Given the description of an element on the screen output the (x, y) to click on. 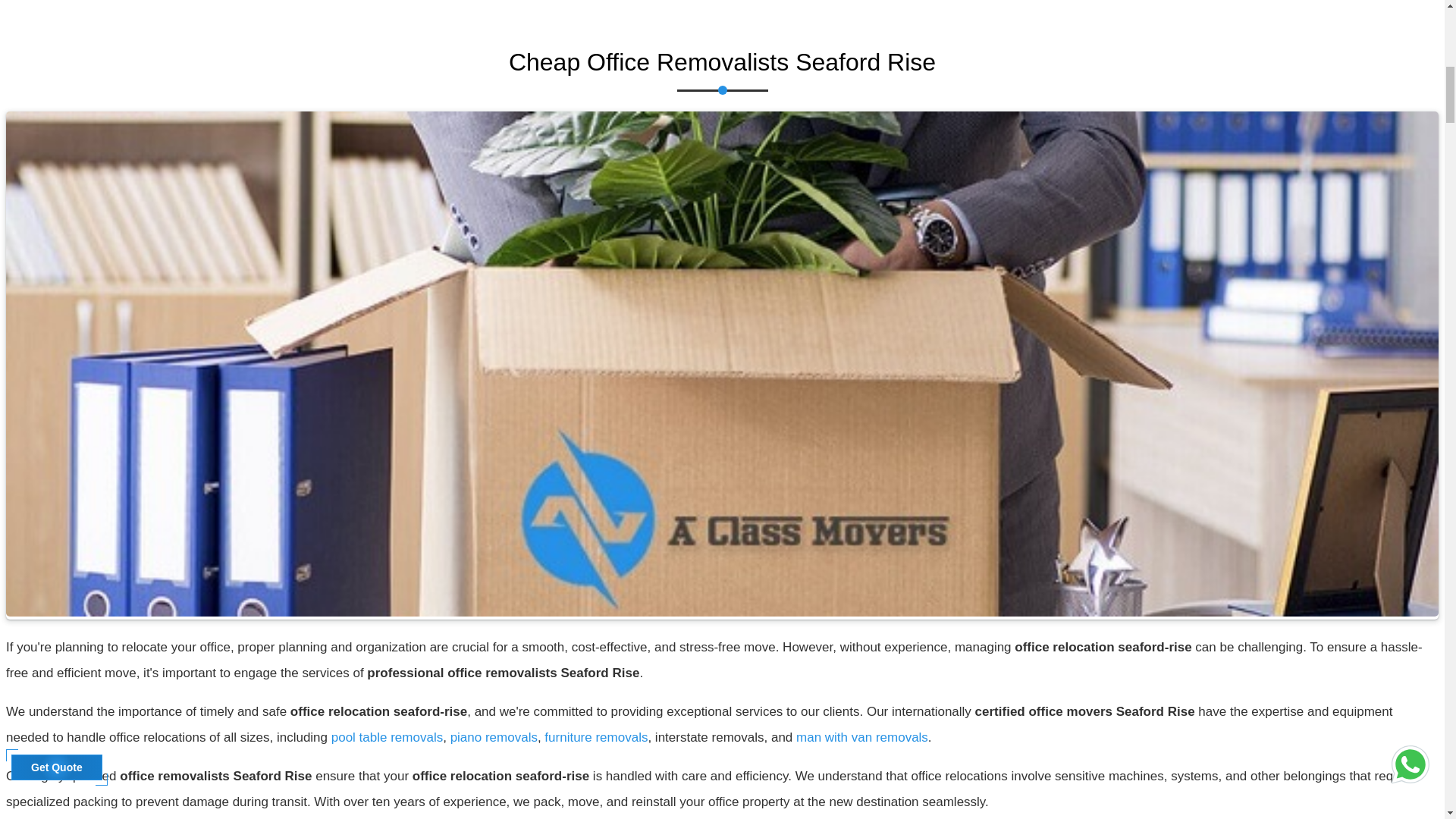
man with van removals (862, 737)
pool table removals (386, 737)
furniture removals (595, 737)
piano removals (493, 737)
